Given the description of an element on the screen output the (x, y) to click on. 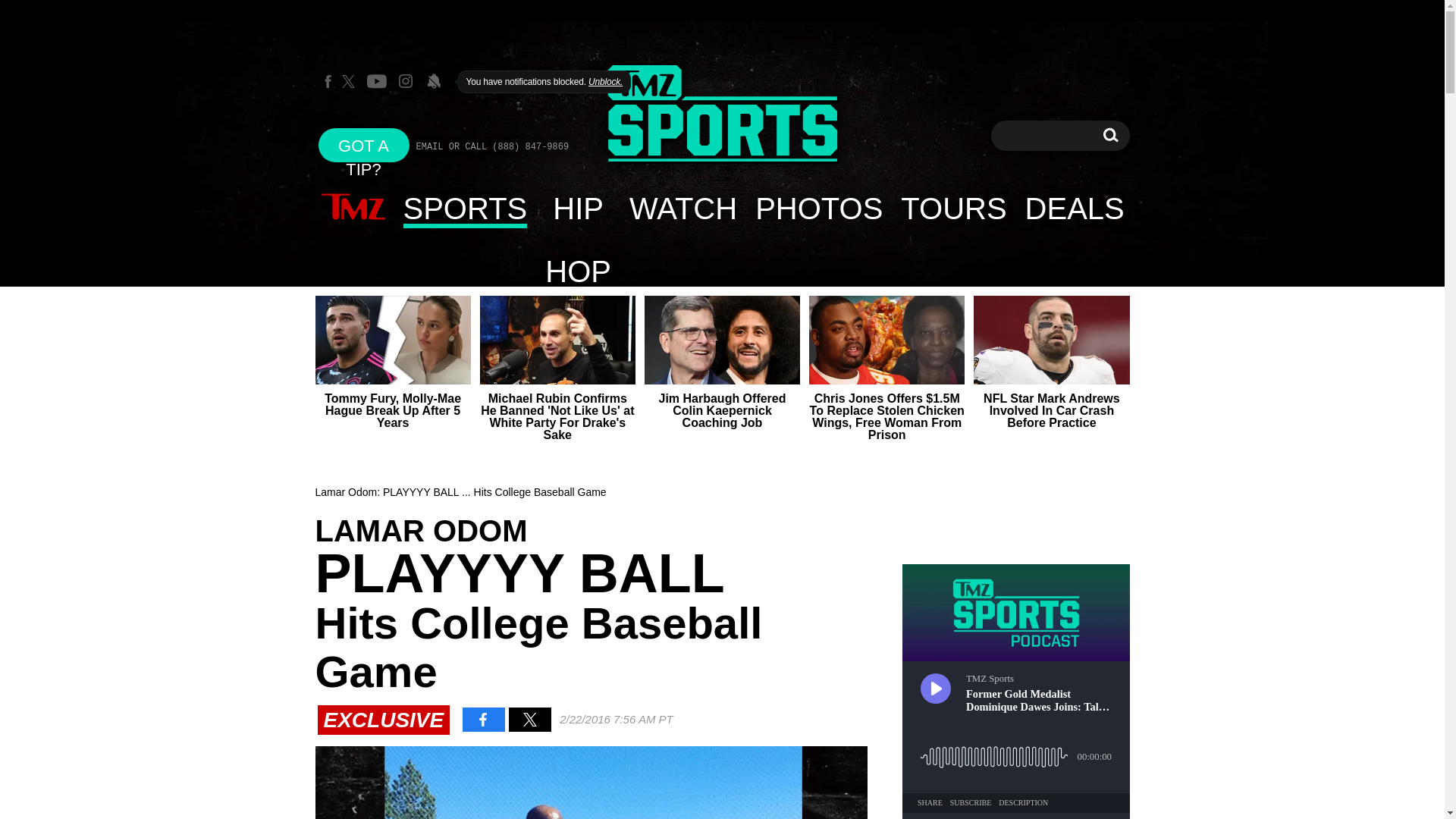
PHOTOS (818, 207)
TMZ Sports (722, 115)
SPORTS (465, 207)
GOT A TIP? (363, 144)
HIP HOP (577, 207)
Search (1110, 134)
TMZ Sports (722, 113)
TOURS (952, 207)
DEALS (1075, 207)
